Given the description of an element on the screen output the (x, y) to click on. 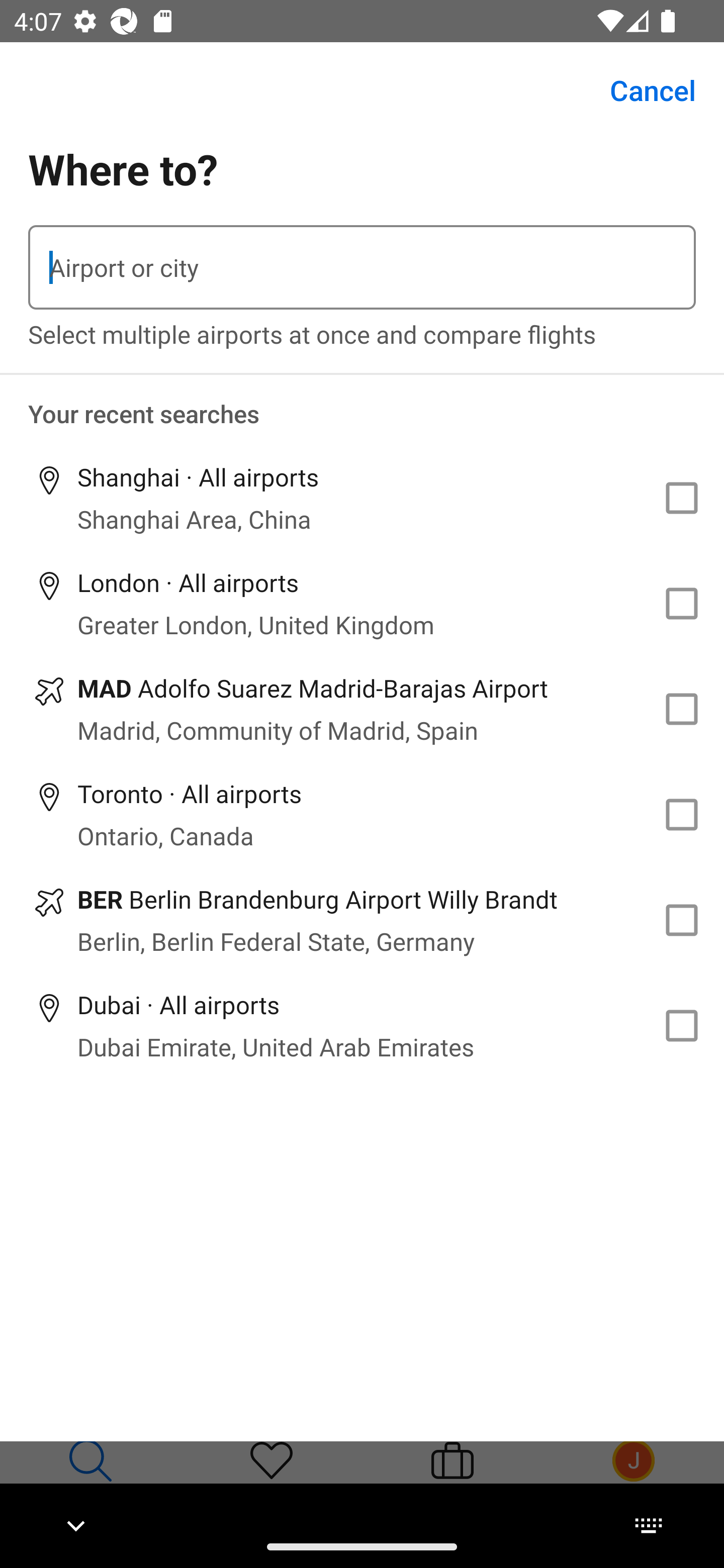
Cancel (641, 90)
Airport or city (361, 266)
Shanghai · All airports Shanghai Area, China (362, 497)
Toronto · All airports Ontario, Canada (362, 814)
